Given the description of an element on the screen output the (x, y) to click on. 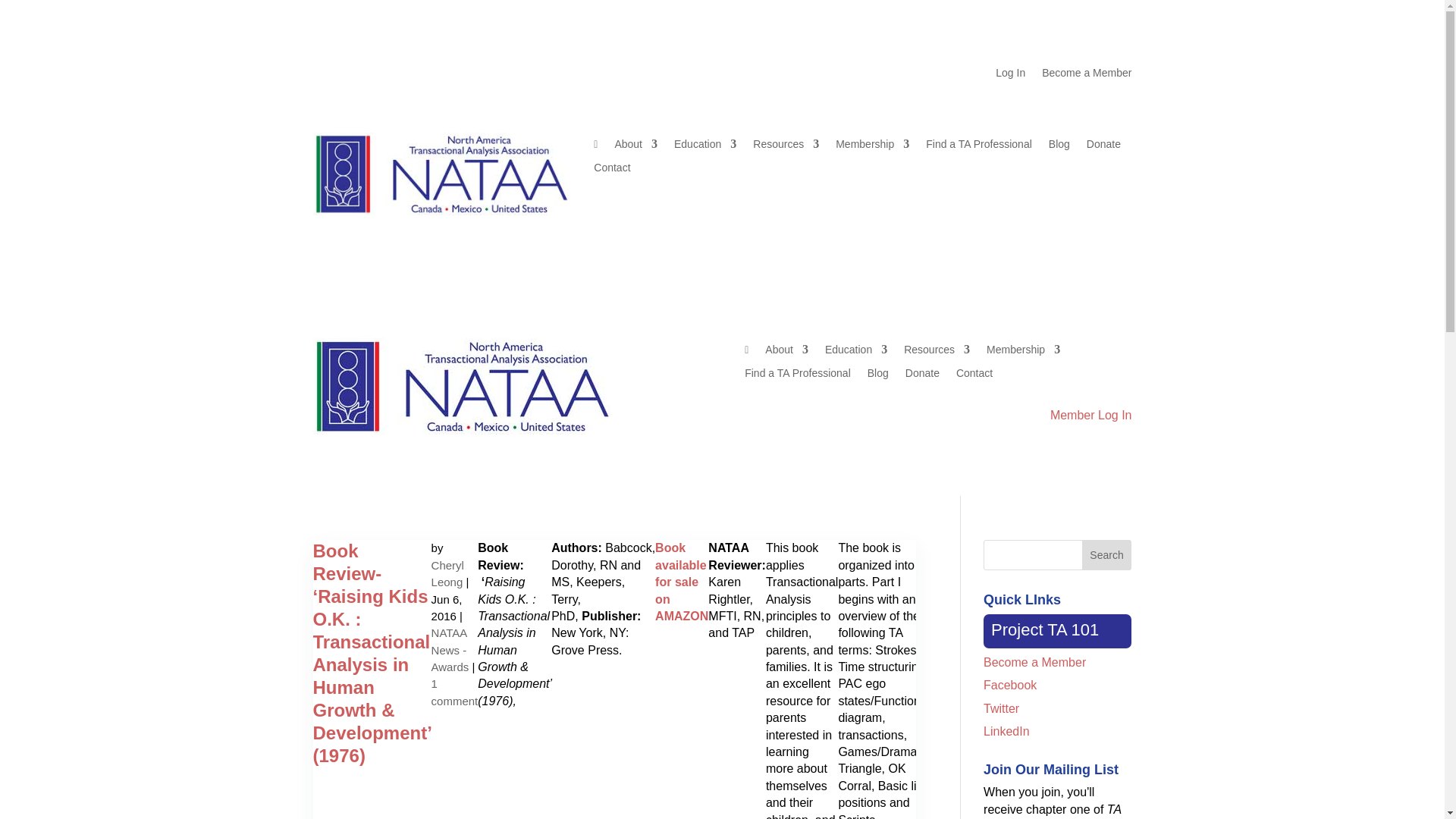
Follow on Youtube (384, 73)
Posts by Cheryl Leong (447, 573)
Resources (785, 147)
Log In (1010, 75)
About (636, 147)
Follow on LinkedIn (415, 73)
Education (705, 147)
Follow on Facebook (324, 73)
Follow on X (354, 73)
Search (1106, 554)
